Given the description of an element on the screen output the (x, y) to click on. 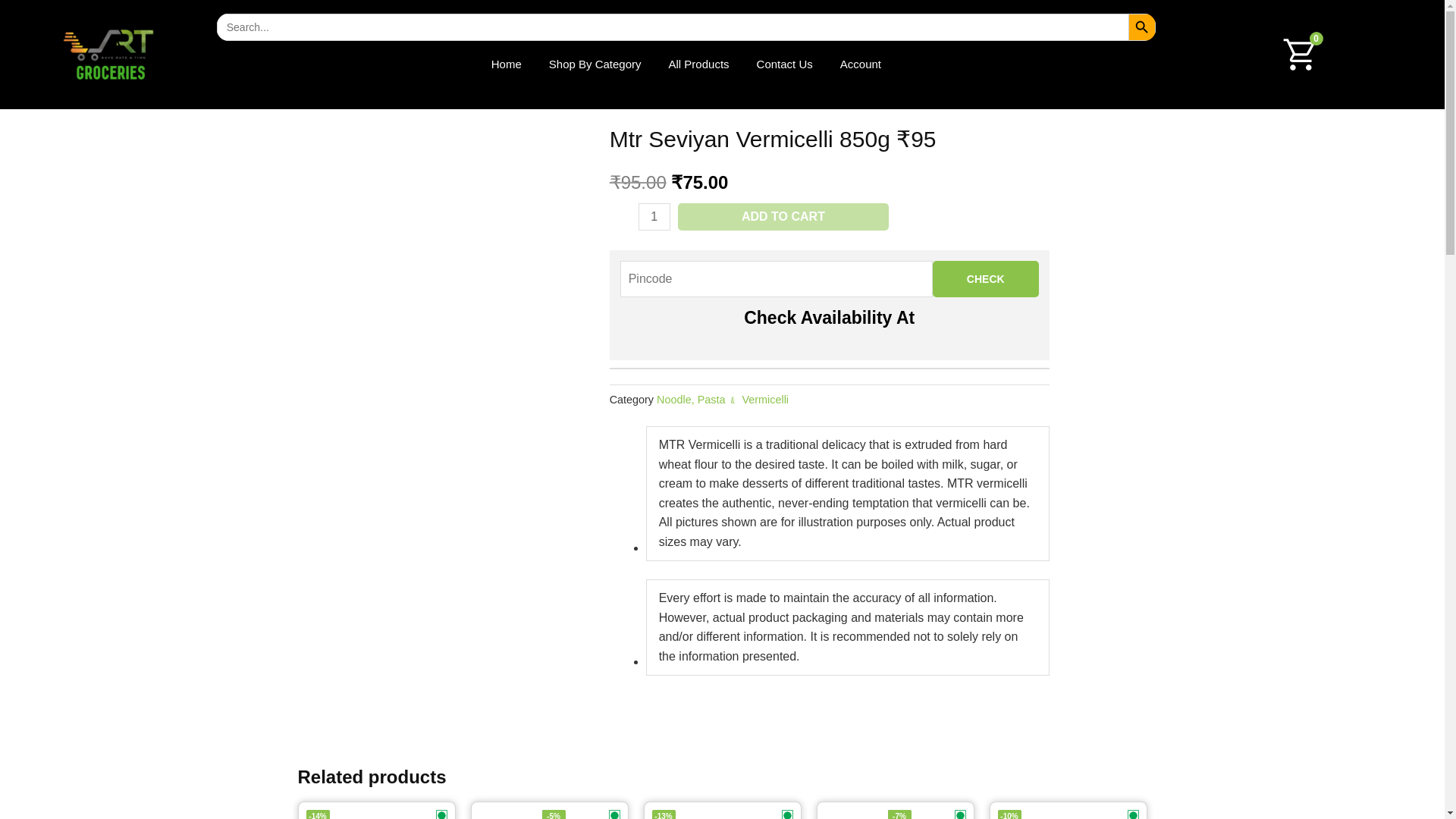
Shop By Category (595, 64)
SEARCH BUTTON (1142, 26)
Check (986, 279)
Home (506, 64)
1 (654, 216)
